Given the description of an element on the screen output the (x, y) to click on. 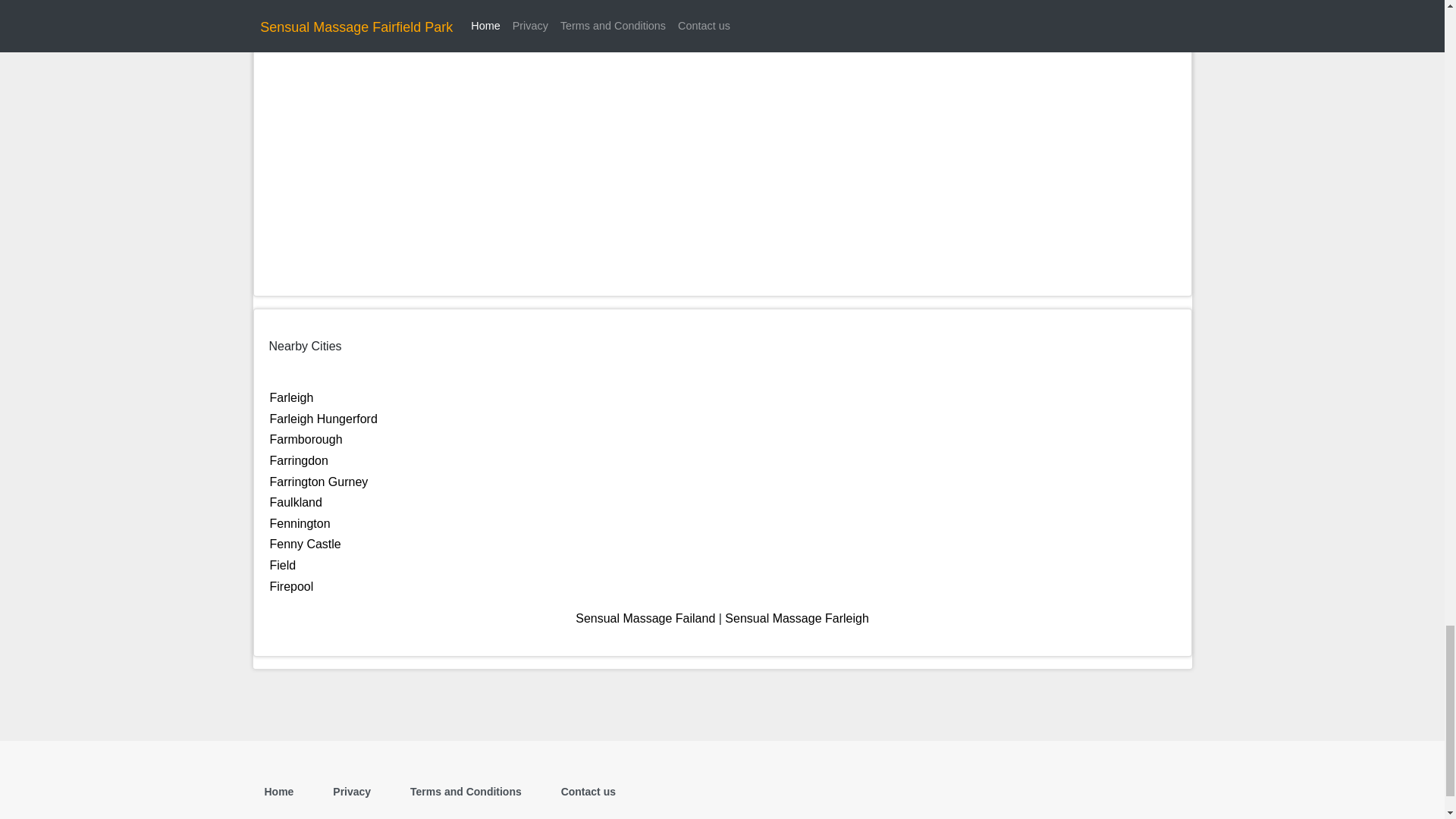
Fenny Castle (304, 543)
Faulkland (295, 502)
Farmborough (305, 439)
Sensual Massage Failand (644, 617)
Field (283, 564)
Farringdon (299, 460)
Firepool (291, 585)
Fennington (299, 522)
Sensual Massage Farleigh (796, 617)
Farrington Gurney (318, 481)
Farleigh (291, 397)
Farleigh Hungerford (323, 418)
